Given the description of an element on the screen output the (x, y) to click on. 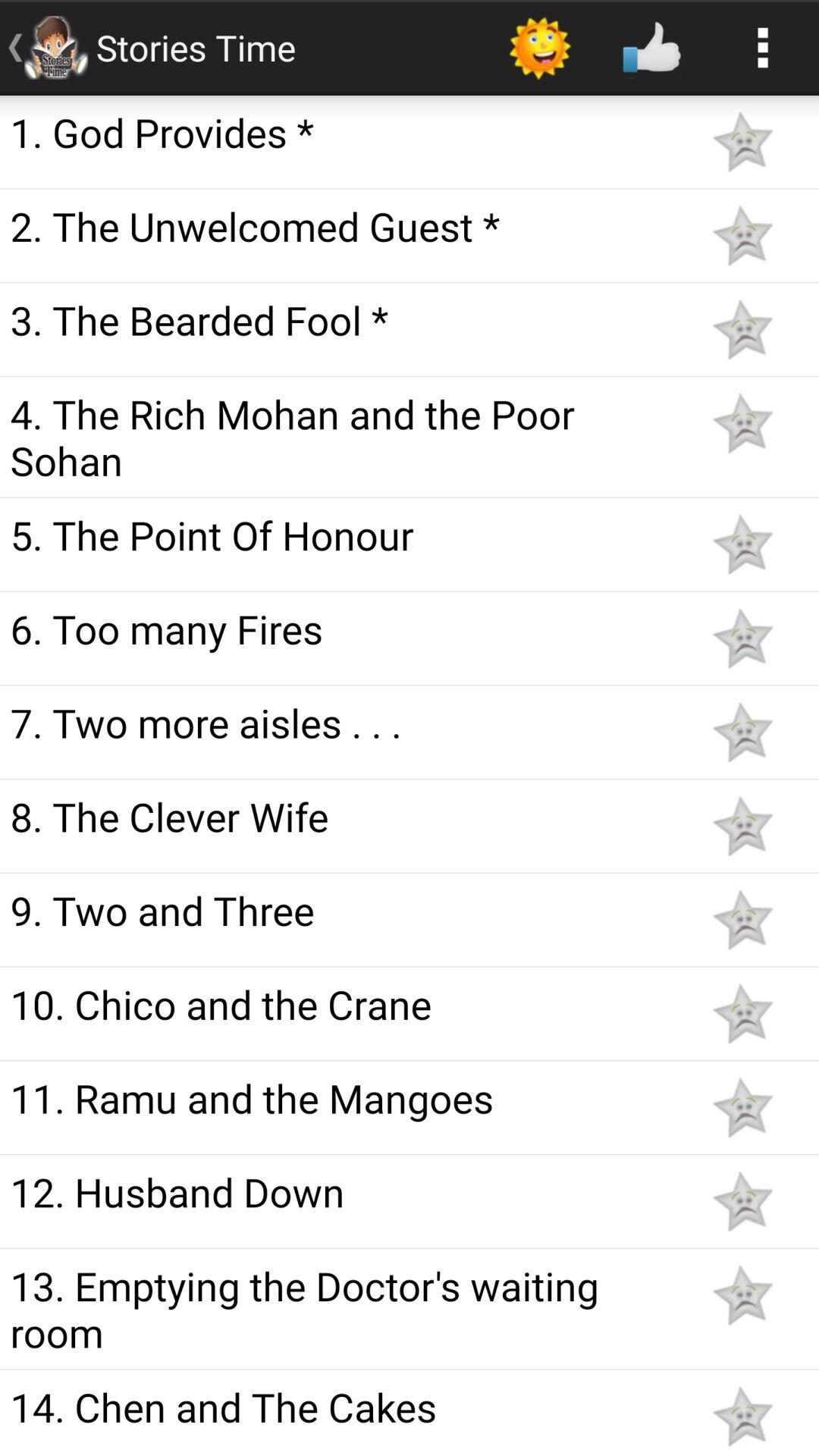
do not like (742, 1201)
